Given the description of an element on the screen output the (x, y) to click on. 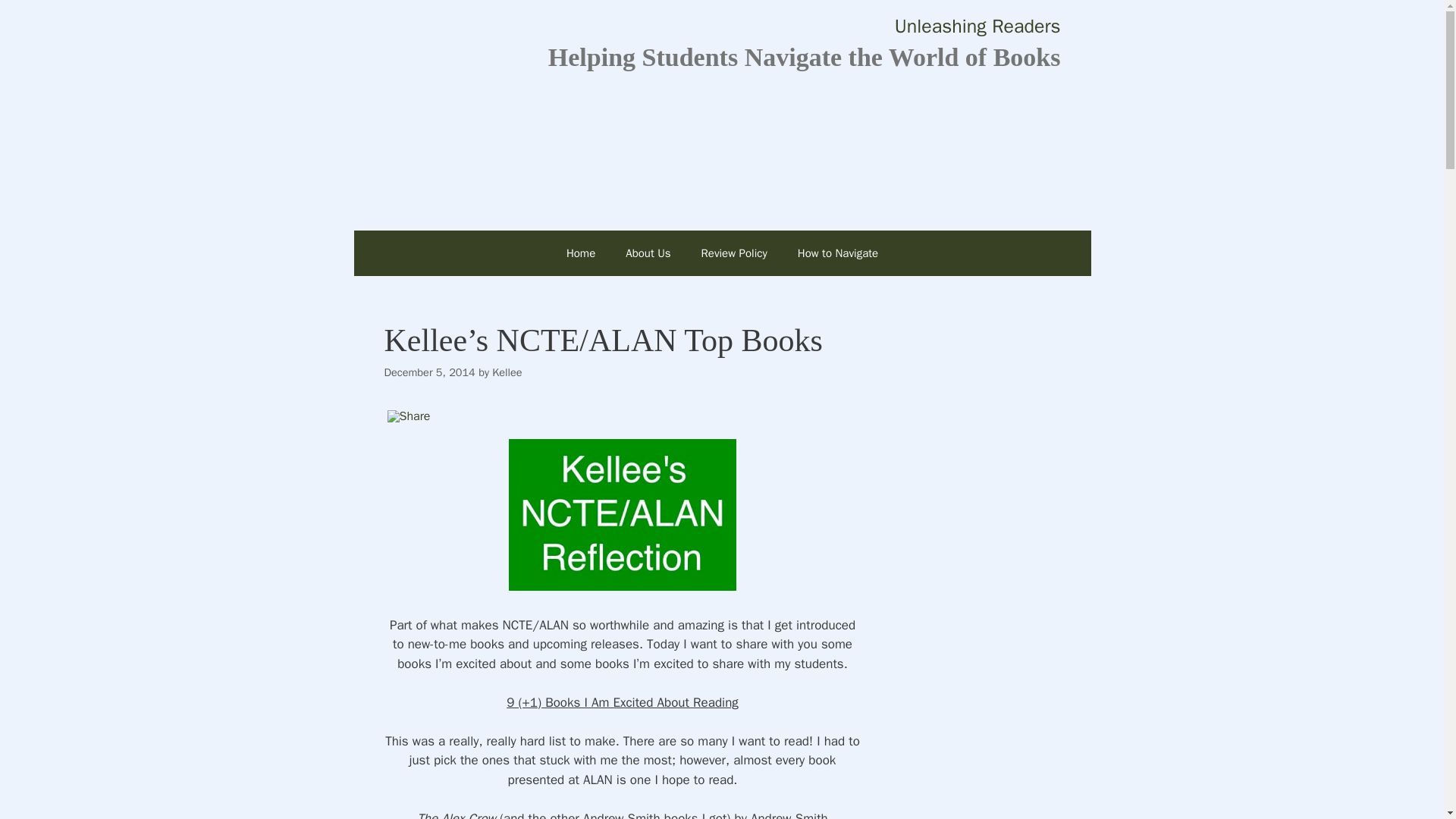
View all posts by Kellee (506, 372)
About Us (647, 253)
Kellee (506, 372)
How to Navigate (838, 253)
Review Policy (734, 253)
Unleashing Readers (978, 25)
Home (580, 253)
